Given the description of an element on the screen output the (x, y) to click on. 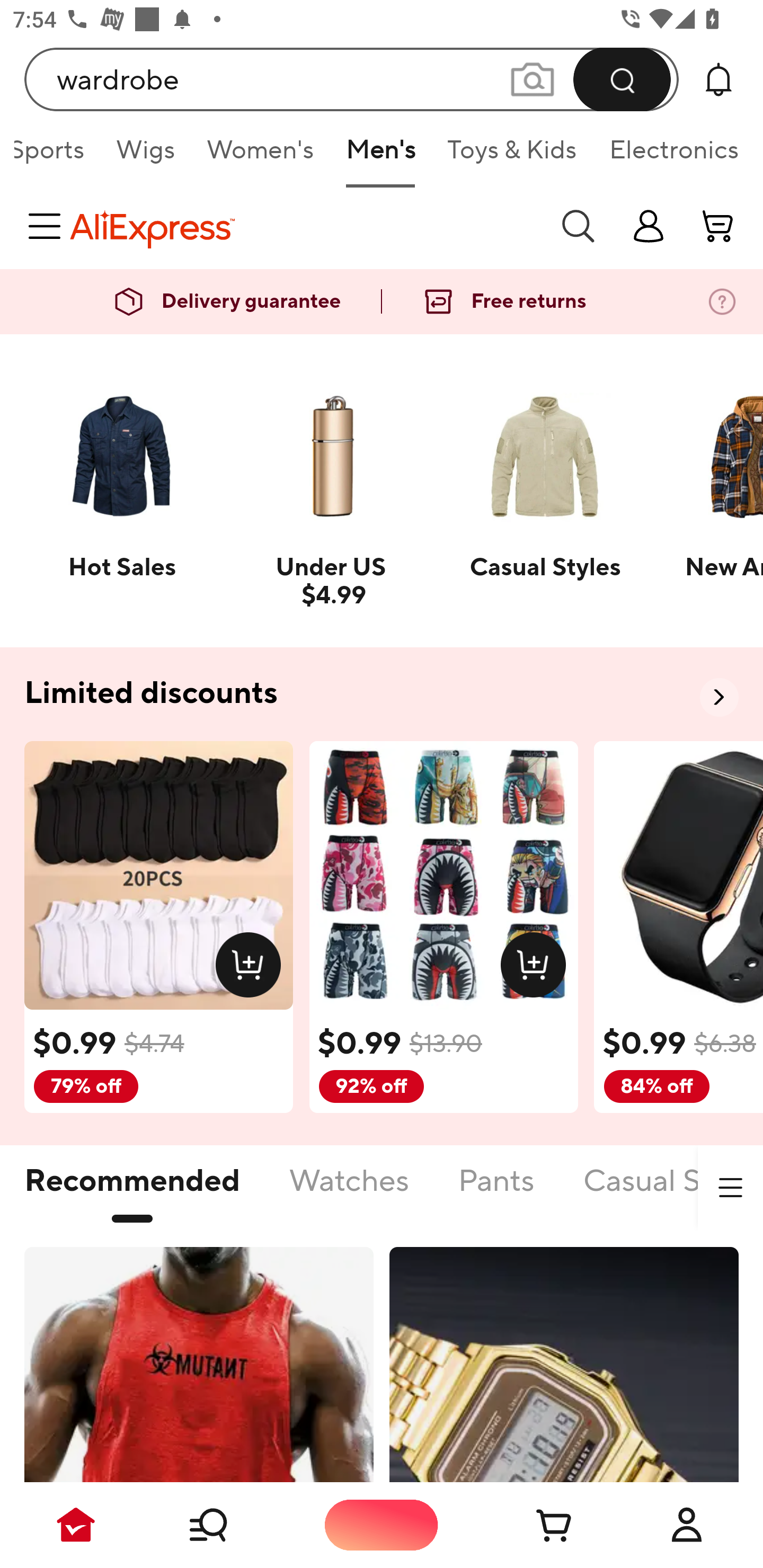
wardrobe (351, 79)
Sports (56, 155)
Wigs (144, 155)
Women's (260, 155)
Toys & Kids (511, 155)
Electronics (669, 155)
aliexpress (305, 225)
category (47, 225)
shop (648, 225)
account (718, 225)
Limited discounts  Limited discounts (381, 694)
128x128.png_ (252, 967)
128x128.png_ (536, 967)
 (730, 1188)
Recommended (132, 1191)
Watches (348, 1191)
Pants (496, 1191)
Casual Styles (672, 1191)
Shop (228, 1524)
Cart (533, 1524)
Account (686, 1524)
